Given the description of an element on the screen output the (x, y) to click on. 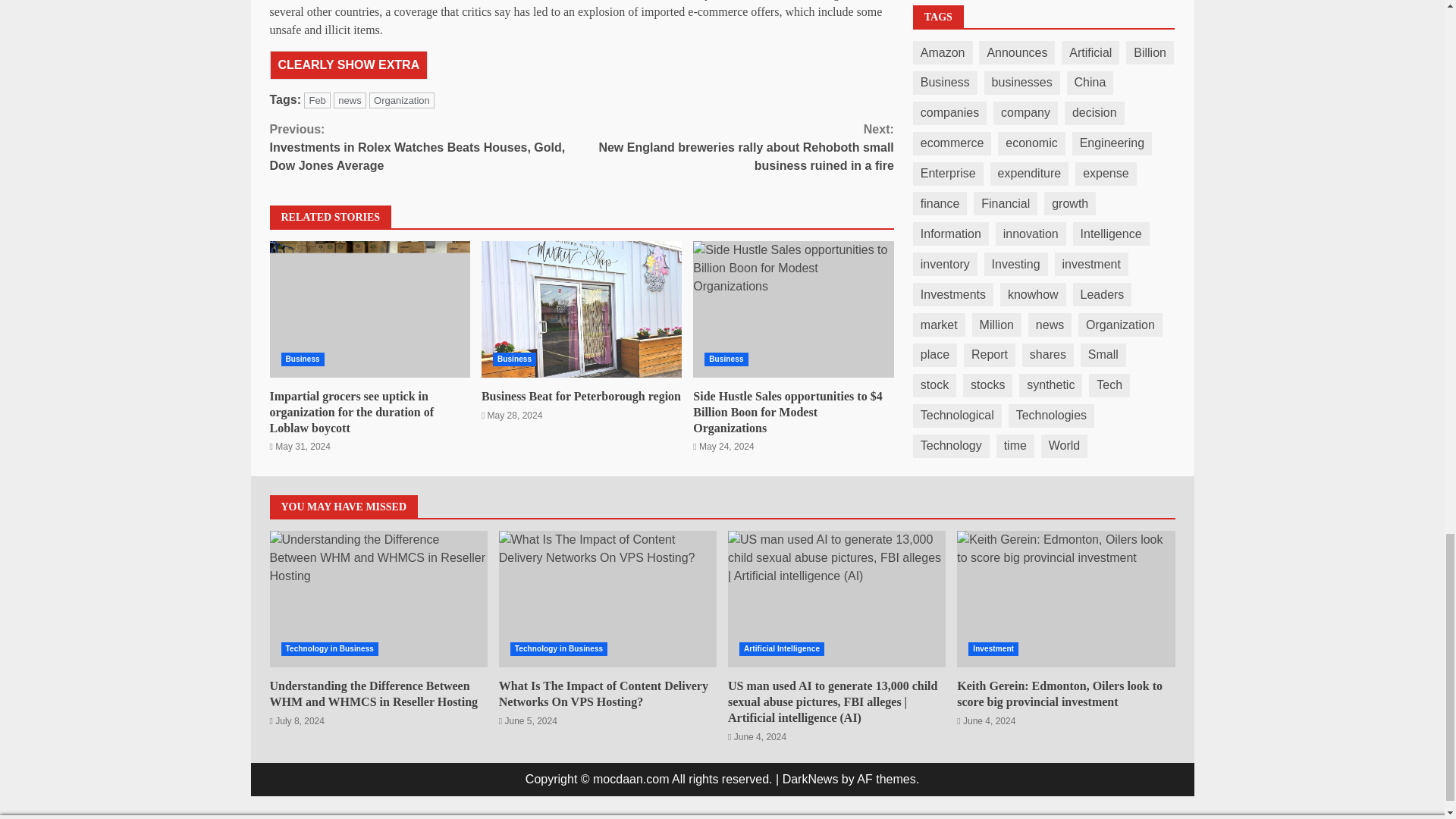
Organization (401, 100)
Business (726, 359)
Business Beat for Peterborough region (581, 308)
CLEARLY SHOW EXTRA (348, 64)
Business (302, 359)
news (349, 100)
Business (514, 359)
